Given the description of an element on the screen output the (x, y) to click on. 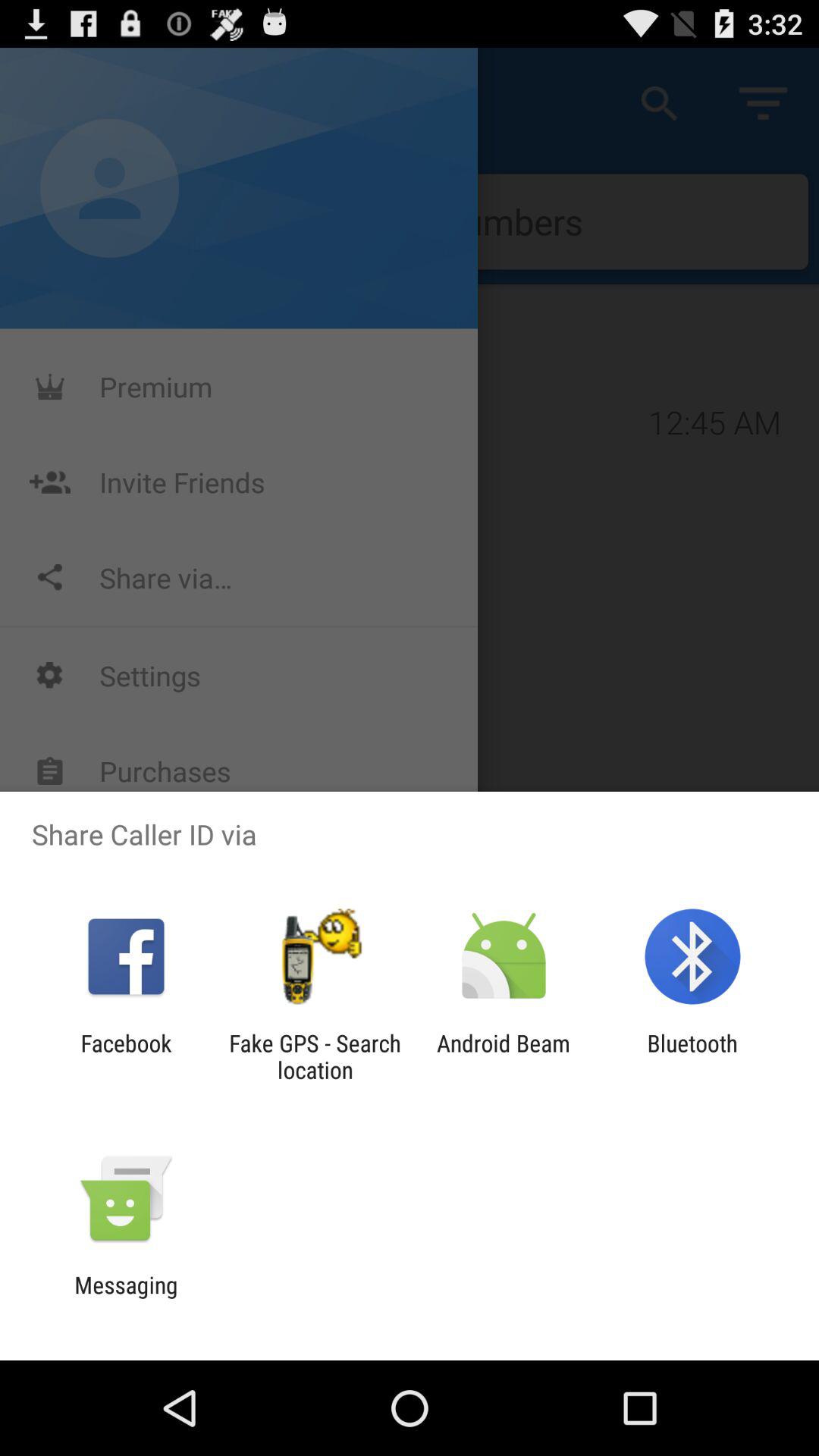
click the item next to android beam item (692, 1056)
